Given the description of an element on the screen output the (x, y) to click on. 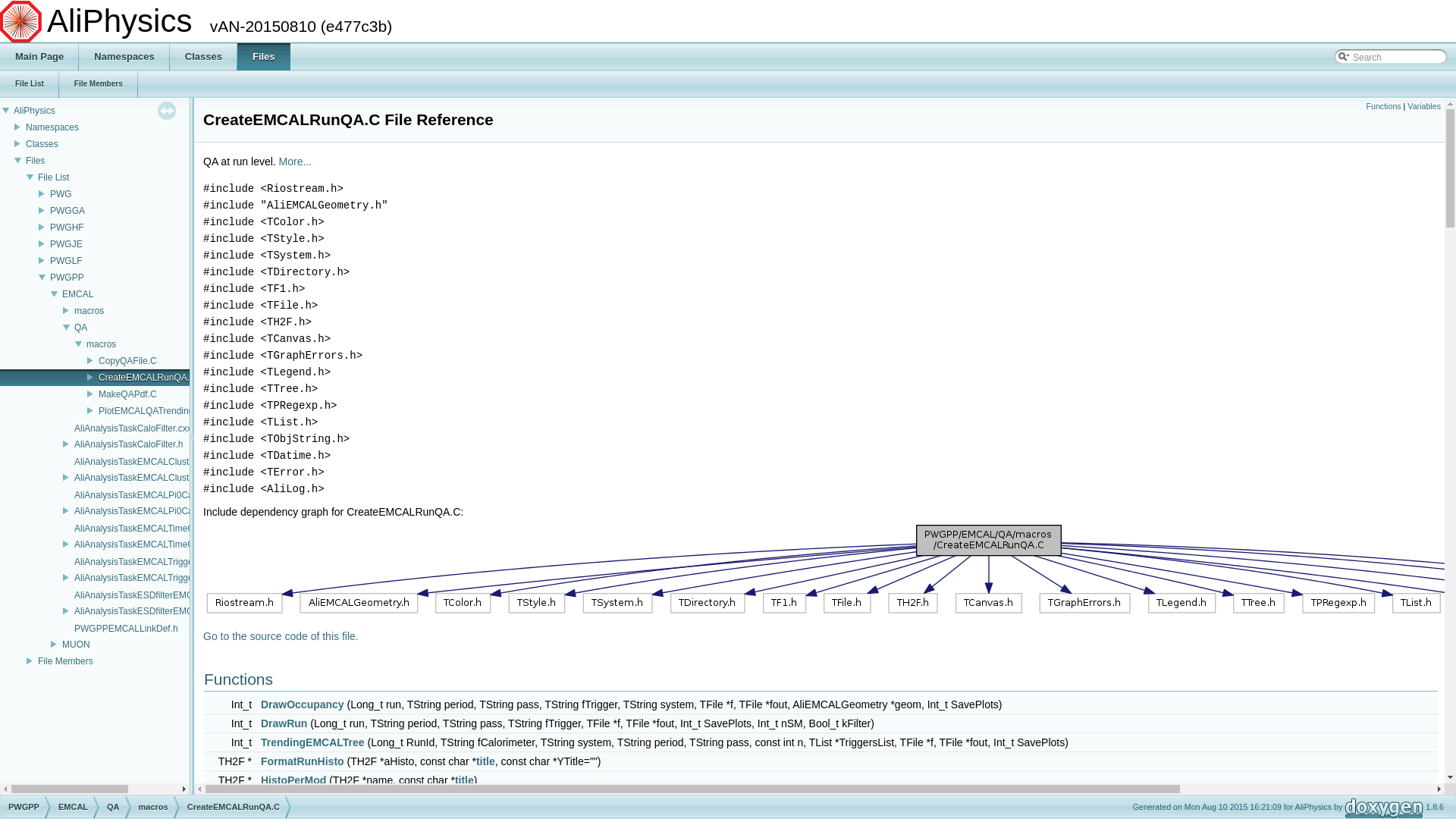
AliAnalysisTaskEMCALClusterize.cxx Element type: text (149, 461)
DrawRun Element type: text (283, 723)
DrawOccupancy Element type: text (302, 704)
macros Element type: text (88, 310)
AliAnalysisTaskEMCALTimeCalib.h Element type: text (144, 544)
AliAnalysisTaskEMCALTimeCalib.cxx Element type: text (148, 528)
AliAnalysisTaskESDfilterEMCALEventSelect.cxx Element type: text (171, 595)
MUON Element type: text (75, 644)
Classes Element type: text (203, 56)
AliAnalysisTaskCaloFilter.cxx Element type: text (132, 428)
File List Element type: text (53, 177)
Go to the source code of this file. Element type: text (280, 636)
PWGLF Element type: text (66, 260)
File Members Element type: text (65, 661)
AliPhysics Element type: text (34, 110)
click to disable panel synchronisation Element type: hover (166, 110)
EMCAL Element type: text (77, 294)
PWGHF Element type: text (66, 227)
PWGJE Element type: text (66, 244)
Files Element type: text (263, 56)
PlotEMCALQATrendingTree.C Element type: text (159, 410)
Classes Element type: text (41, 143)
title Element type: text (485, 761)
PWG Element type: text (60, 193)
AliAnalysisTaskEMCALPi0CalibSelection.cxx Element type: text (164, 495)
AliAnalysisTaskCaloFilter.h Element type: text (128, 444)
PWGPPEMCALLinkDef.h Element type: text (125, 628)
More... Element type: text (295, 161)
FormatRunHisto Element type: text (302, 761)
AutoZoom Element type: text (286, 799)
File List Element type: text (29, 83)
AliAnalysisTaskEMCALClusterize.h Element type: text (144, 477)
CreateEMCALRunQA.C Element type: text (147, 377)
File Members Element type: text (98, 83)
title Element type: text (464, 780)
CopyQAFile.C Element type: text (127, 360)
AliAnalysisTaskESDfilterEMCALEventSelect.h Element type: text (166, 611)
AliAnalysisTaskEMCALPi0CalibSelection.h Element type: text (160, 510)
Namespaces Element type: text (123, 56)
macros Element type: text (100, 344)
AliAnalysisTaskEMCALTriggerQA.h Element type: text (145, 577)
Functions Element type: text (1382, 105)
Variables Element type: text (1423, 105)
PWGGA Element type: text (67, 210)
AliAnalysisTaskEMCALTriggerQA.cxx Element type: text (149, 561)
PWGPP Element type: text (66, 277)
Main Page Element type: text (39, 56)
TrendingEMCALTree Element type: text (312, 742)
HistoPerMod Element type: text (293, 780)
Namespaces Element type: text (52, 127)
MakeQAPdf.C Element type: text (127, 394)
Files Element type: text (35, 160)
QA Element type: text (80, 327)
